Given the description of an element on the screen output the (x, y) to click on. 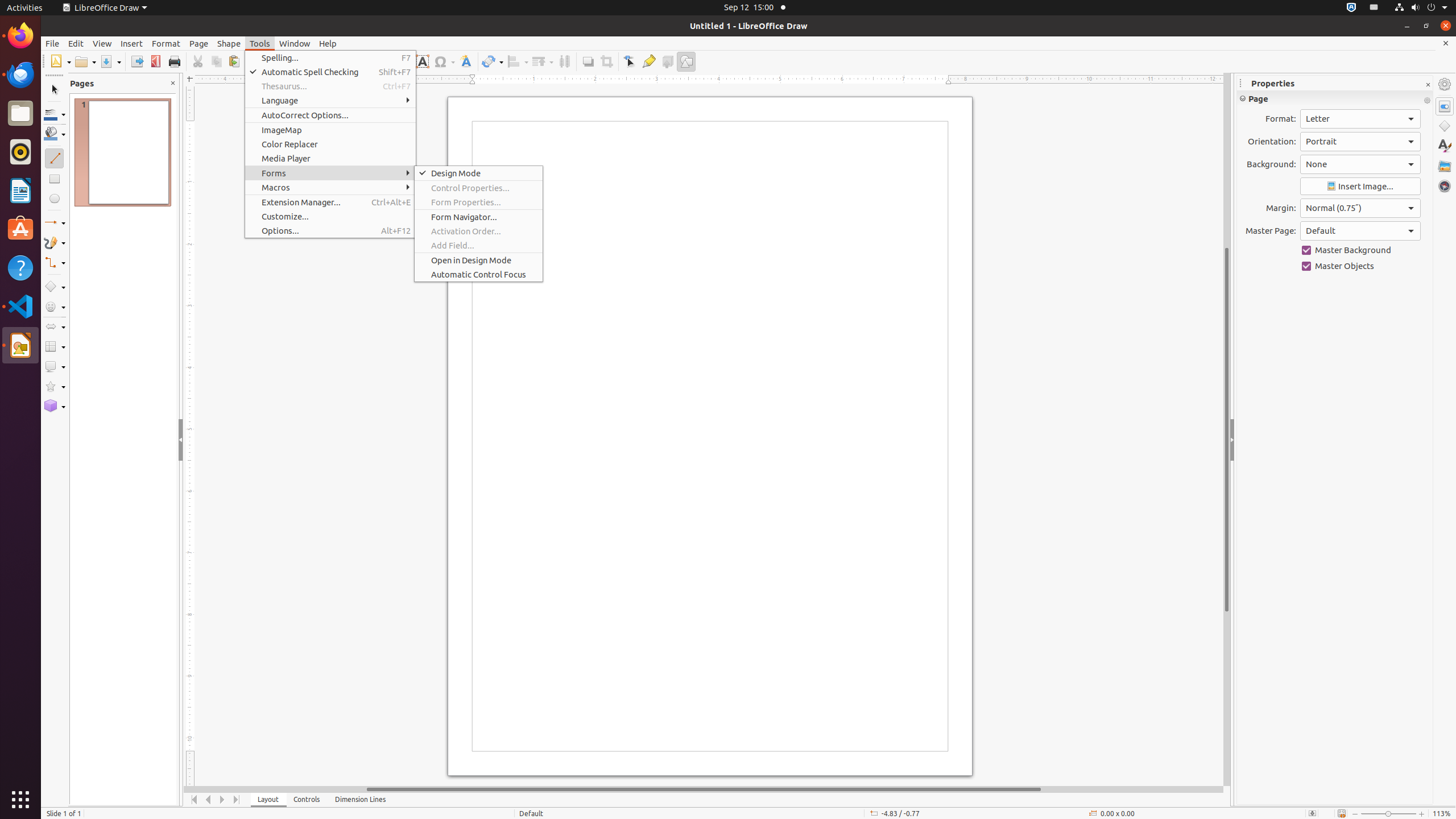
Visual Studio Code Element type: push-button (20, 306)
Properties Element type: radio-button (1444, 106)
Vertical Ruler Element type: ruler (190, 436)
LibreOffice Draw Element type: menu (103, 7)
Toggle Extrusion Element type: push-button (667, 61)
